Given the description of an element on the screen output the (x, y) to click on. 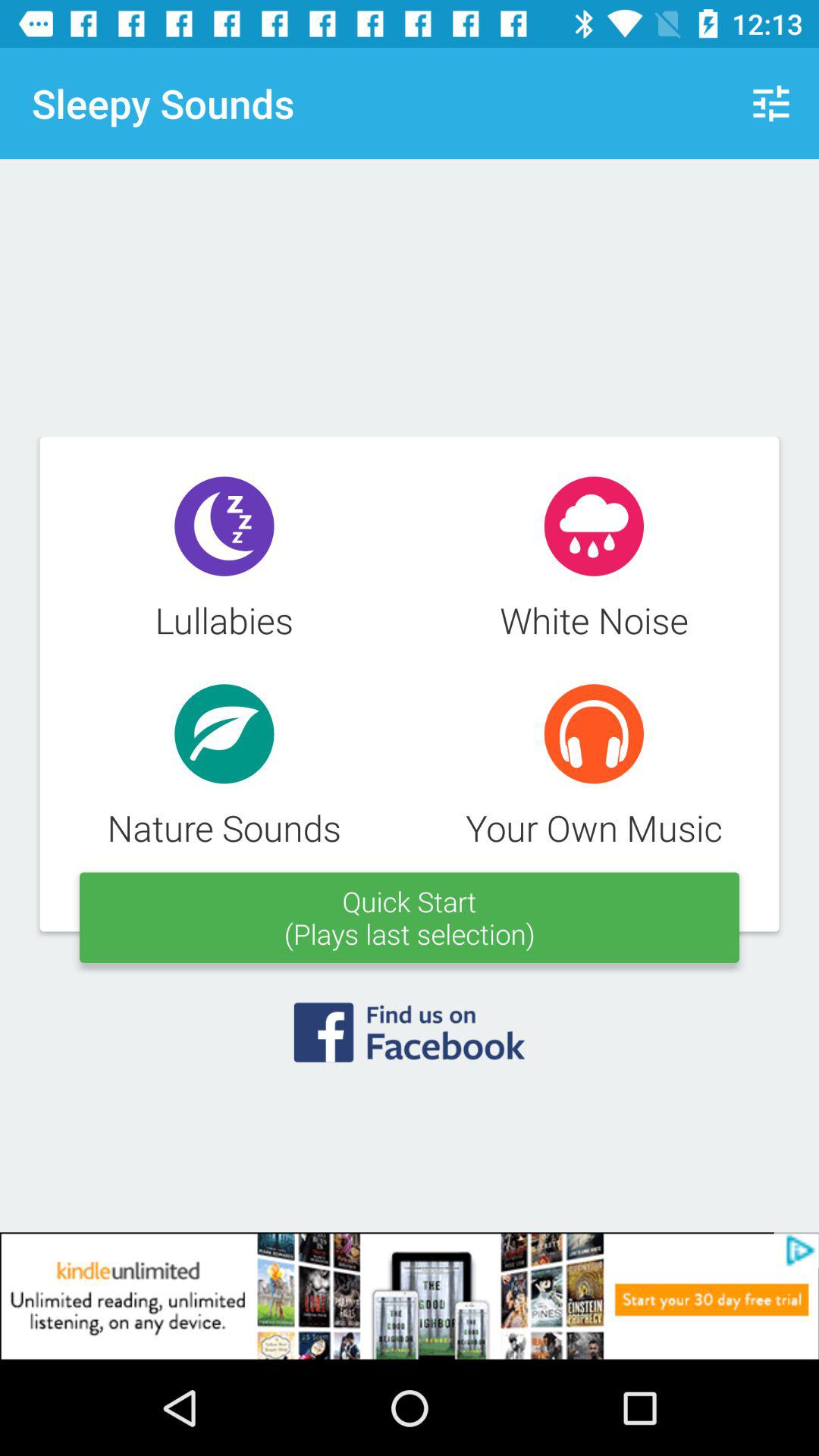
select the text which says lullabies (224, 561)
click on icon on the top right corner (771, 103)
select the text which says quick start (409, 917)
select the icon which is above white noise (593, 526)
select the icon which is above nature sounds (224, 734)
